Given the description of an element on the screen output the (x, y) to click on. 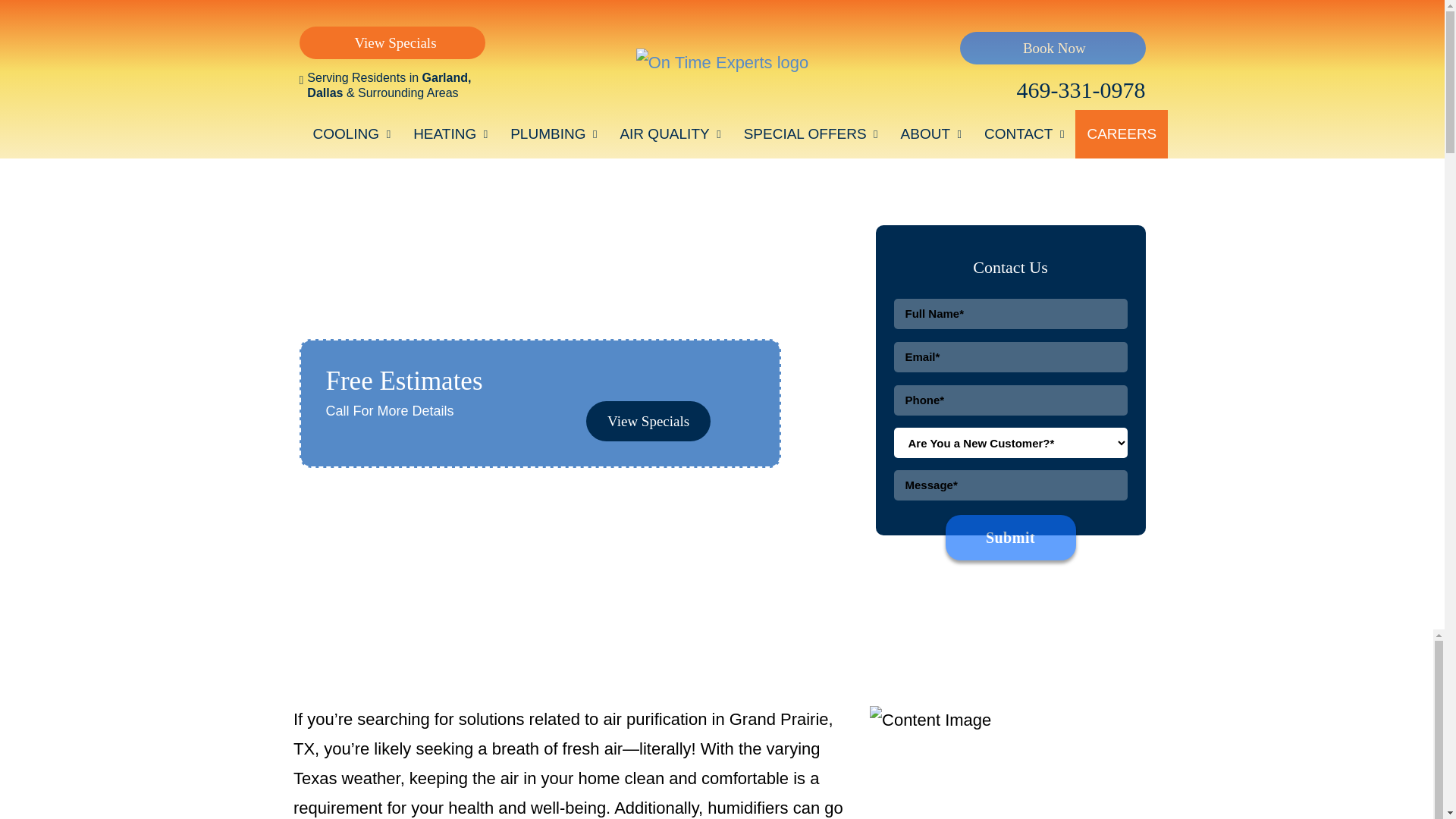
On Time Experts (722, 62)
Submit (1009, 537)
